Given the description of an element on the screen output the (x, y) to click on. 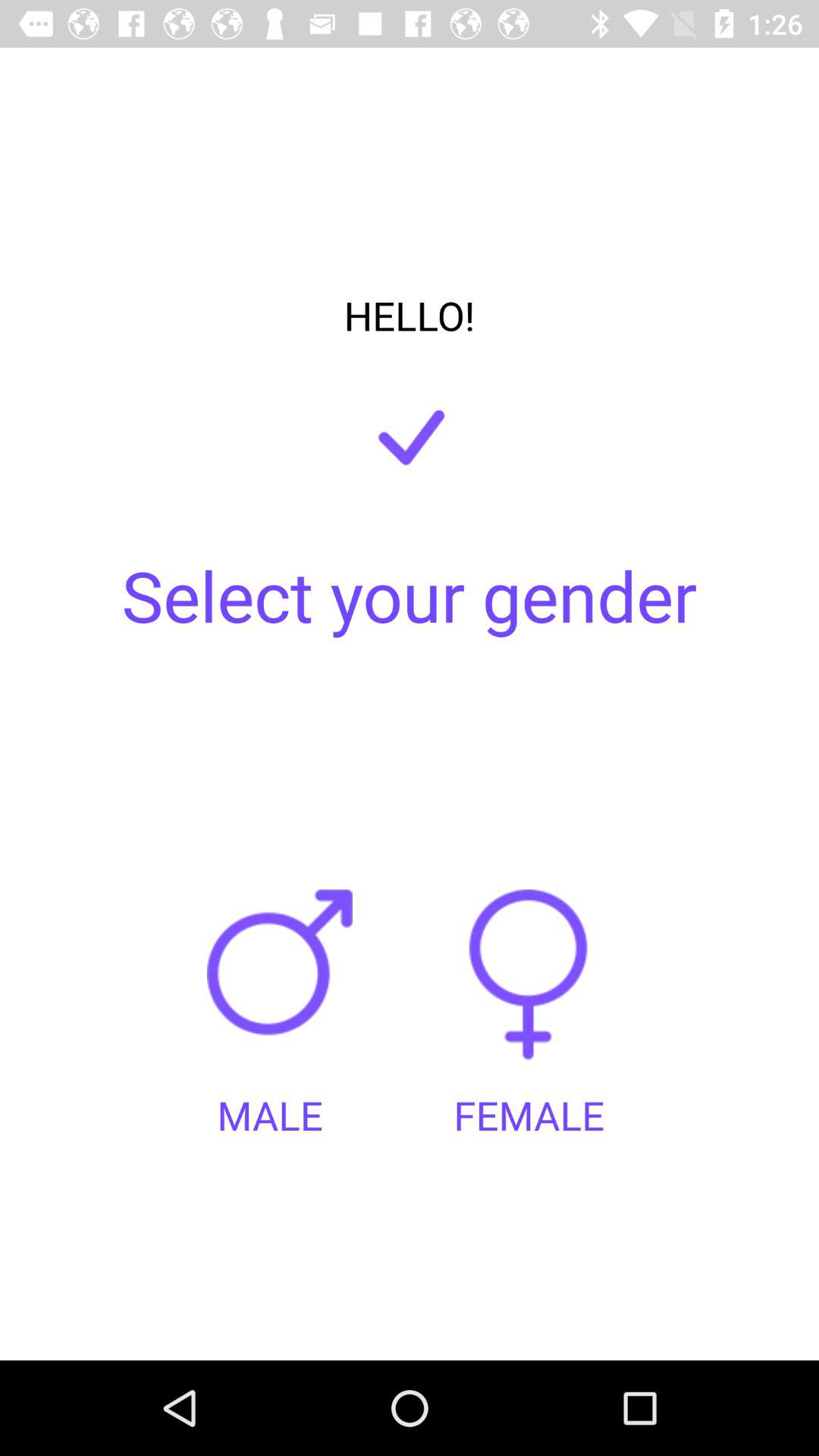
select the item below select your gender icon (284, 988)
